Given the description of an element on the screen output the (x, y) to click on. 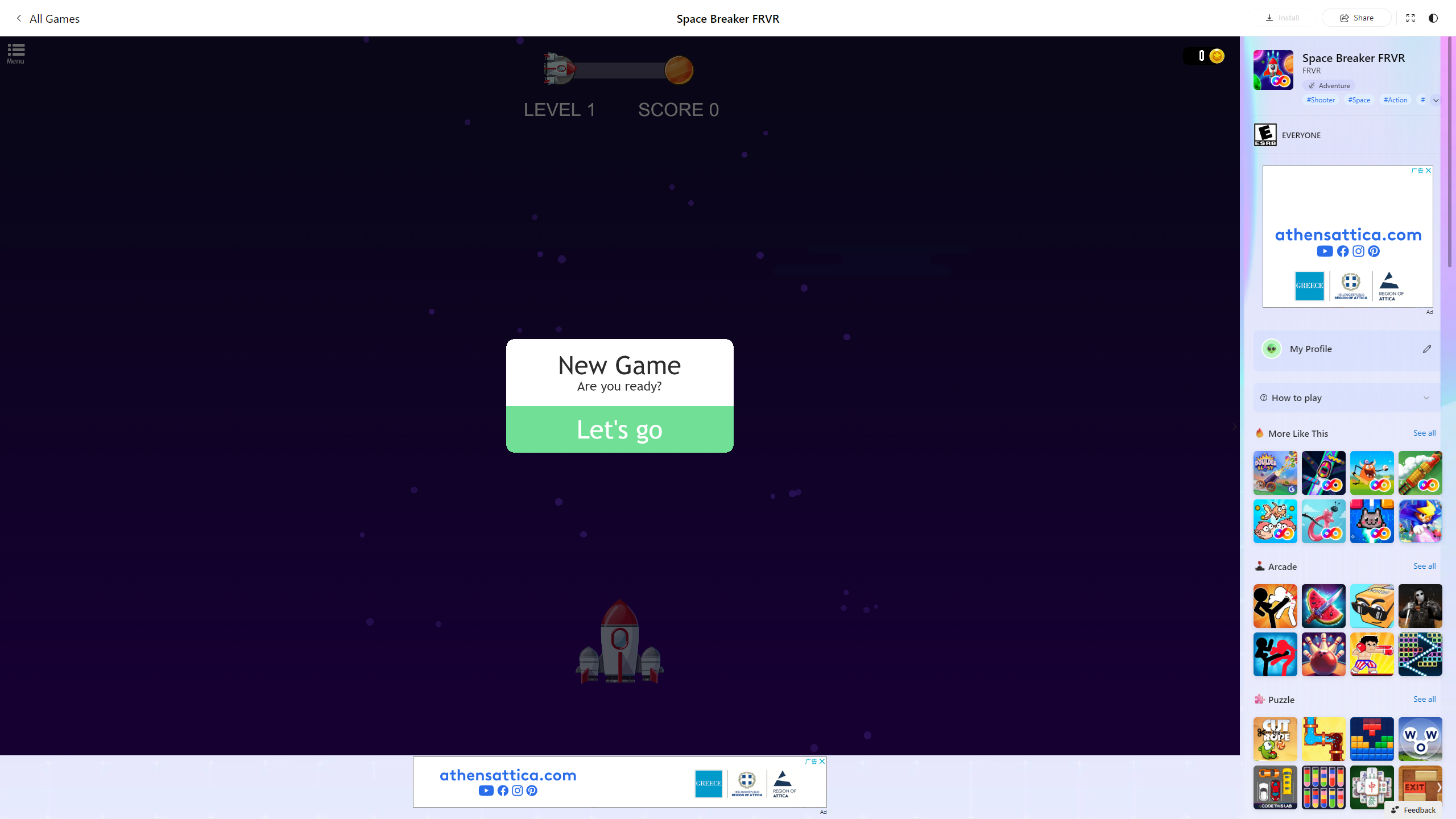
Adventure (1329, 84)
See all (1424, 698)
Hunter Hitman (1420, 605)
Boulder Blast (1275, 472)
#Space (1359, 99)
Install (1281, 17)
Change to dark mode (1433, 17)
Frequently visited (965, 151)
#Action (1395, 99)
Water Sort Quest : Mission (1324, 787)
#Sci Fi (1430, 99)
Tabs you've opened (885, 151)
